Given the description of an element on the screen output the (x, y) to click on. 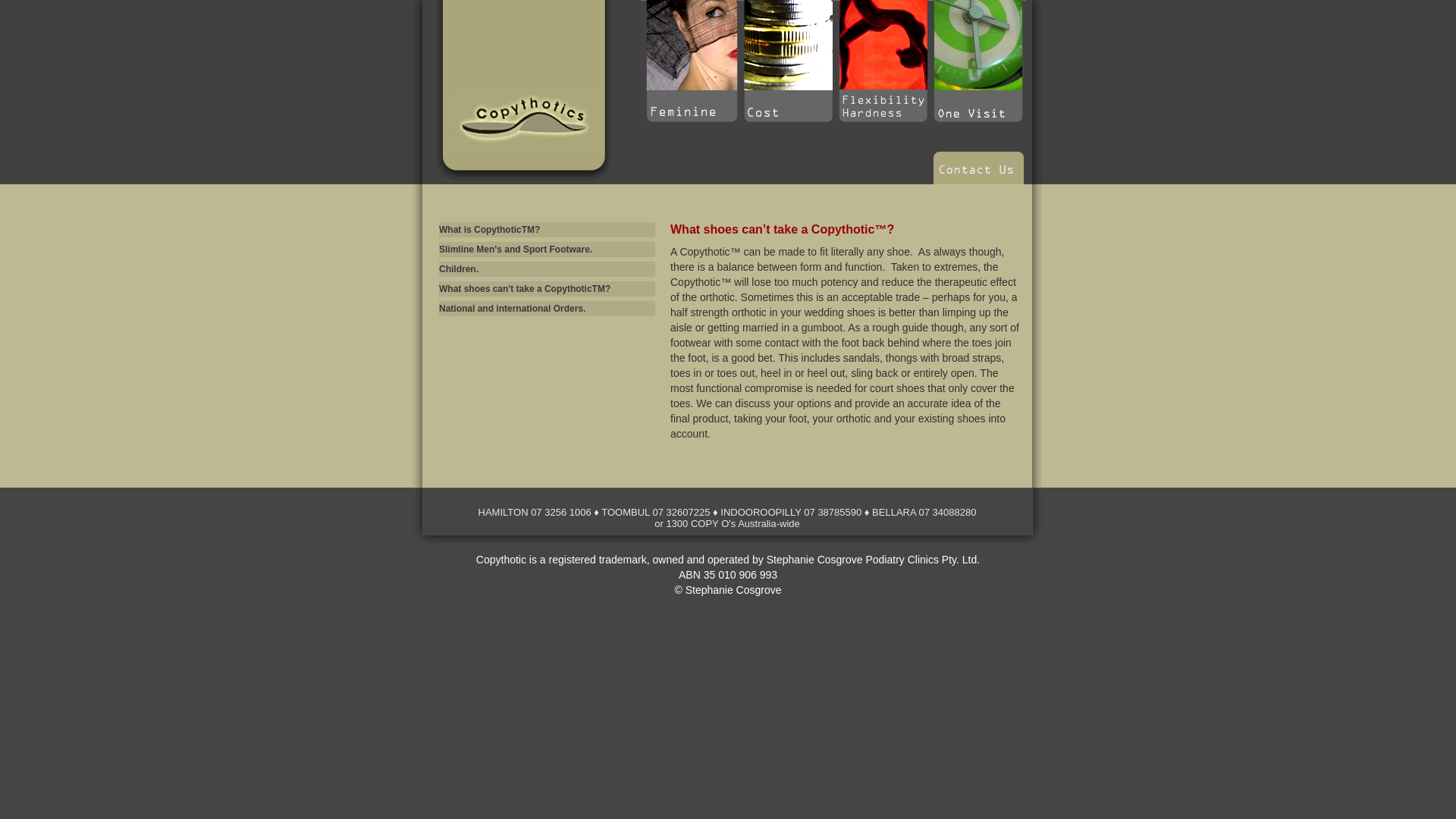
HAMILTON Element type: text (503, 511)
TOOMBUL Element type: text (625, 511)
Slimline Men's and Sport Footware. Element type: text (547, 249)
BELLARA Element type: text (894, 511)
National and international Orders. Element type: text (547, 308)
Children. Element type: text (547, 268)
What shoes can't take a CopythoticTM? Element type: text (547, 288)
What is CopythoticTM? Element type: text (547, 229)
INDOOROOPILLY Element type: text (760, 511)
